Given the description of an element on the screen output the (x, y) to click on. 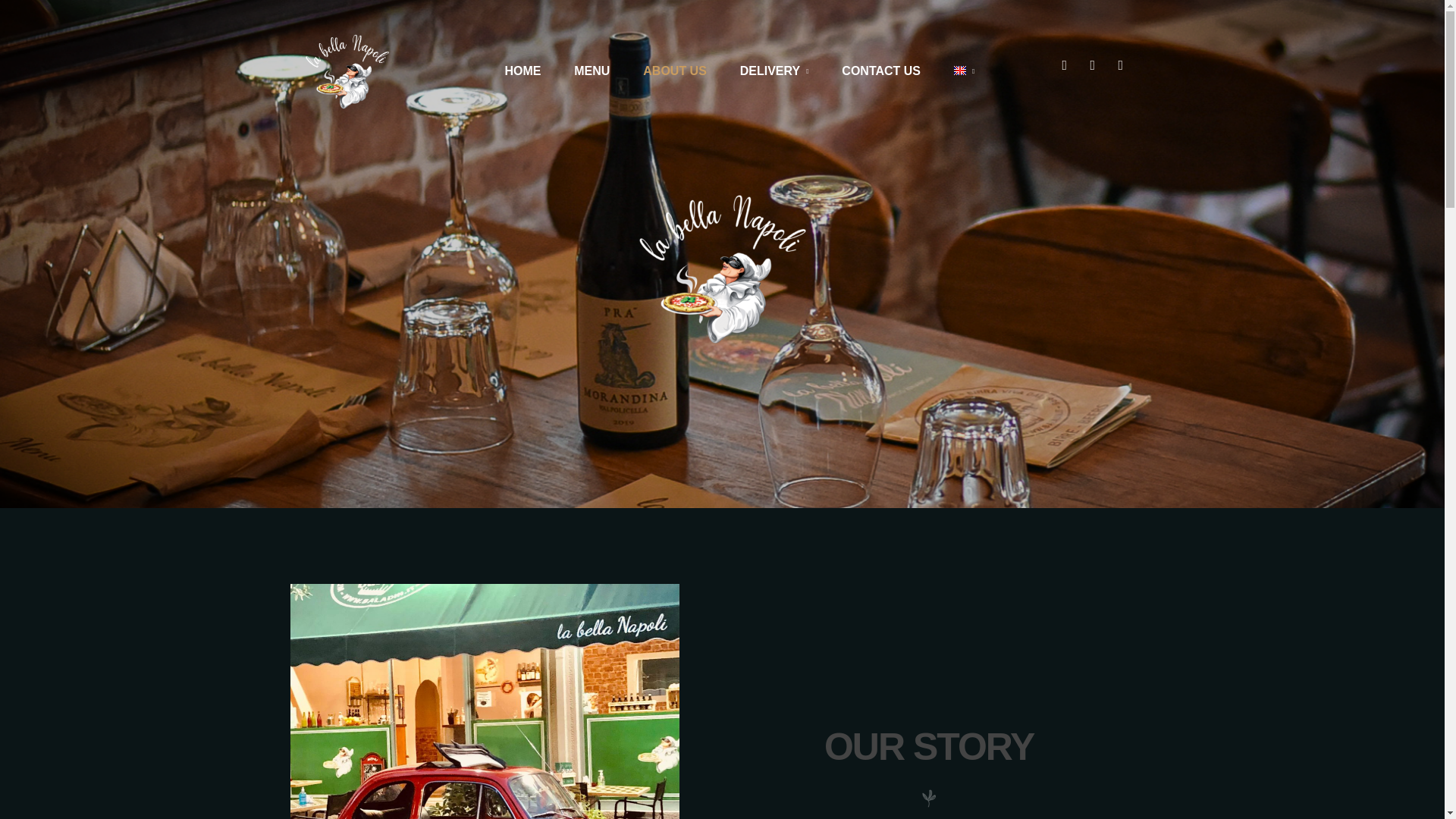
HOME (521, 71)
ABOUT US (674, 71)
CONTACT US (880, 71)
DELIVERY (774, 71)
MENU (591, 71)
